Given the description of an element on the screen output the (x, y) to click on. 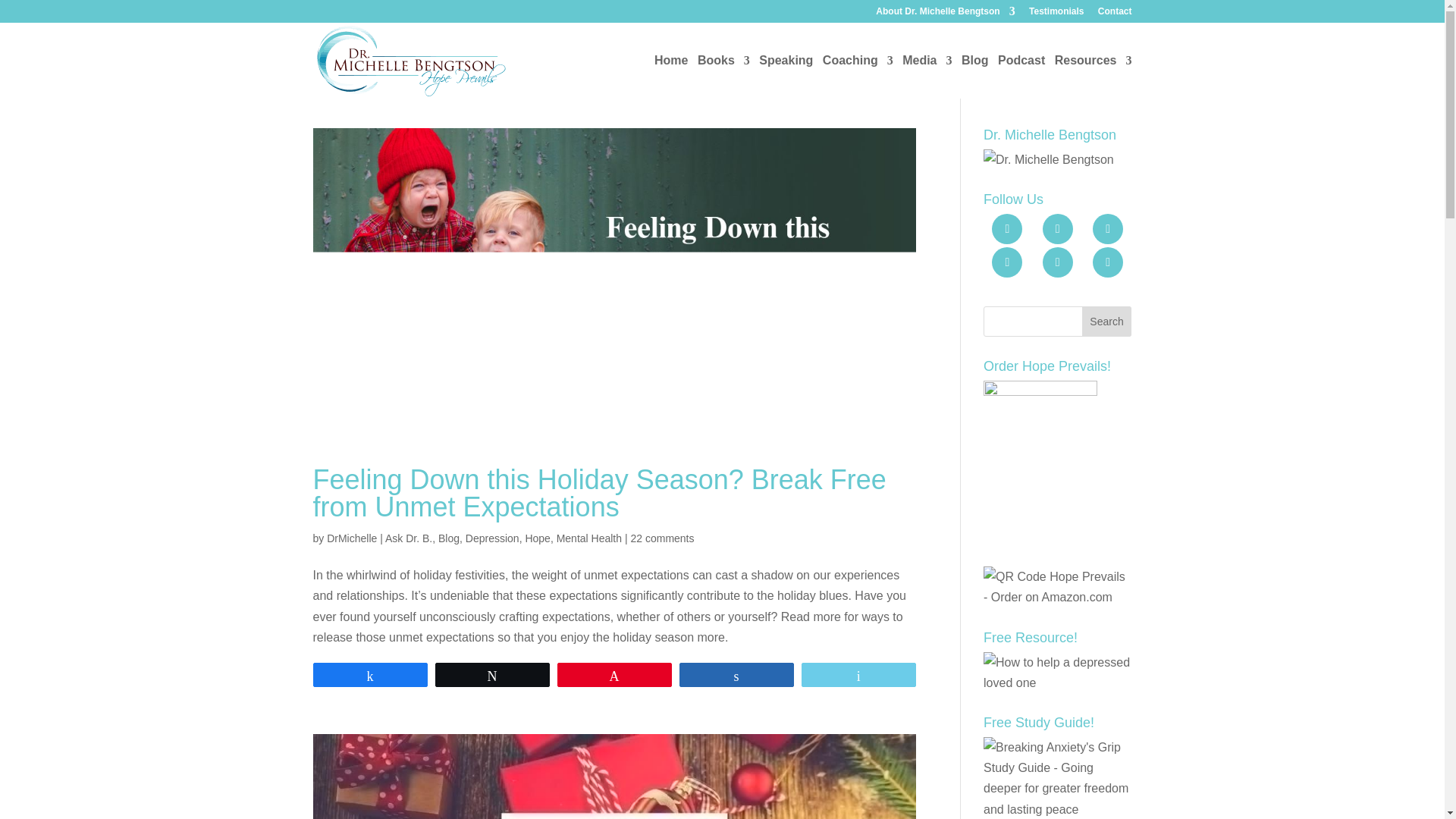
Coaching (857, 76)
Contact (1114, 14)
Testimonials (1056, 14)
Books (723, 76)
About Dr. Michelle Bengtson (945, 14)
Search (1106, 321)
Posts by DrMichelle (351, 538)
Speaking (785, 76)
Resources (1093, 76)
Podcast (1021, 76)
